Given the description of an element on the screen output the (x, y) to click on. 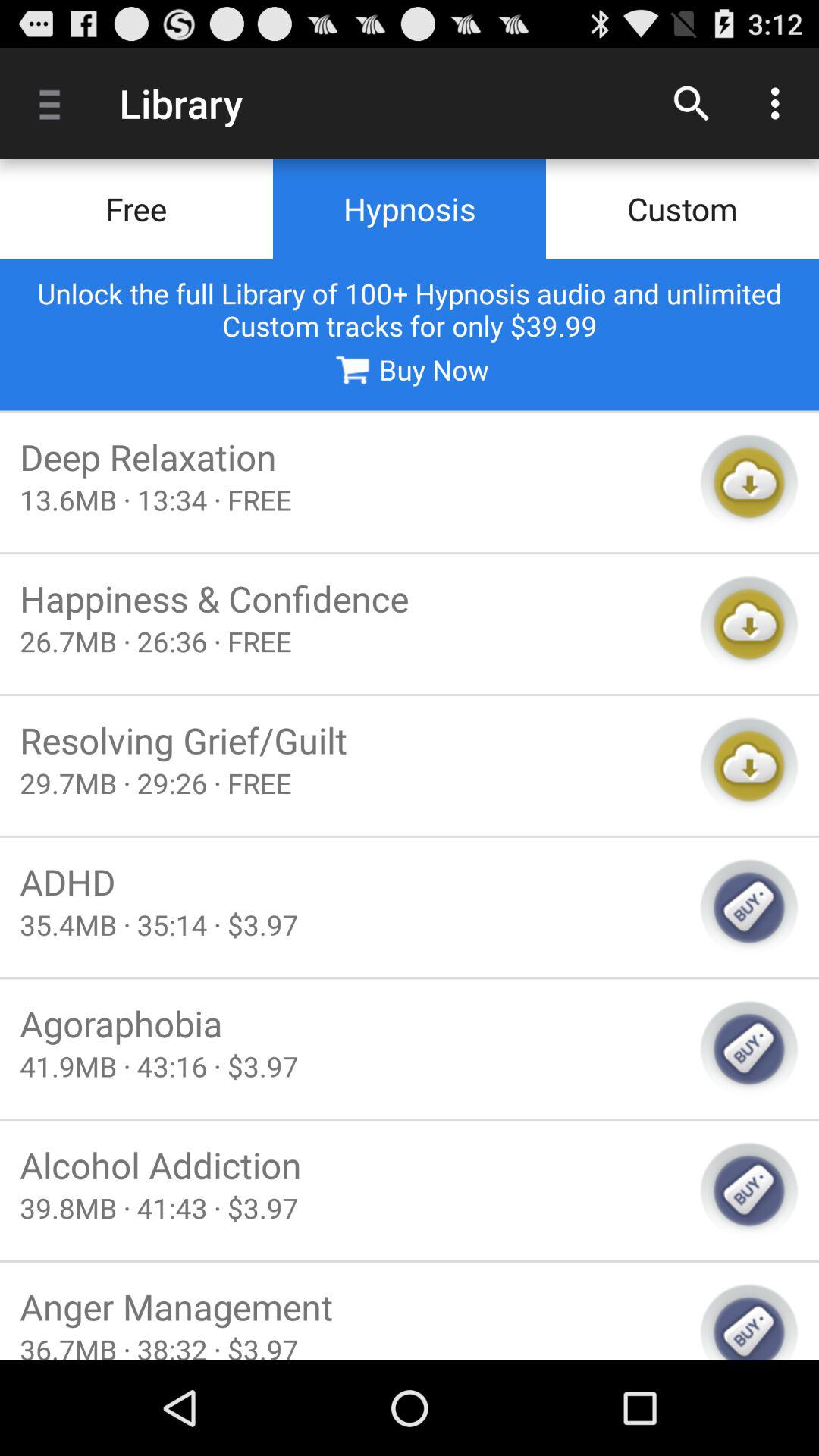
turn off the item above the agoraphobia icon (349, 924)
